Given the description of an element on the screen output the (x, y) to click on. 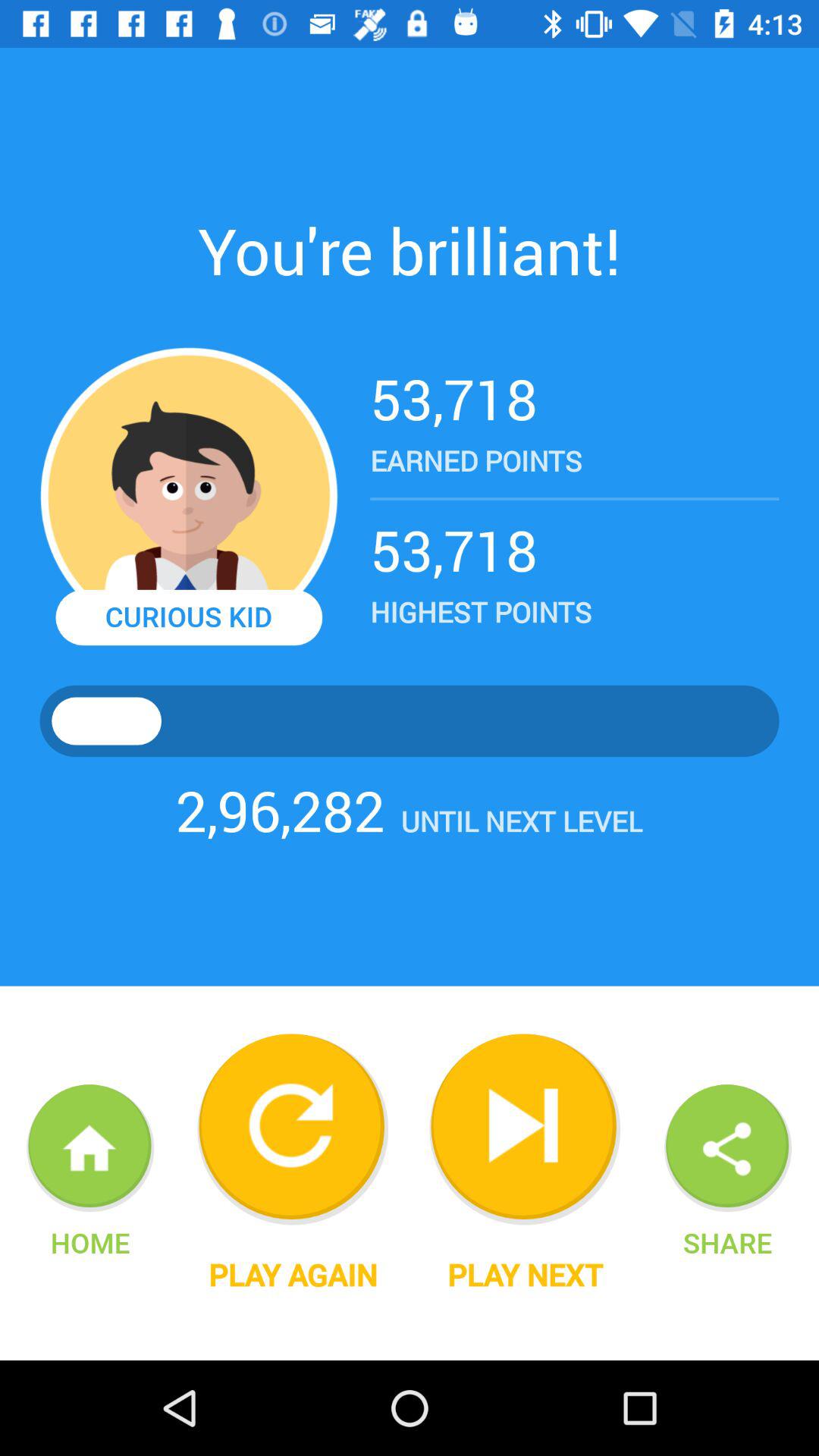
share the results (727, 1148)
